Given the description of an element on the screen output the (x, y) to click on. 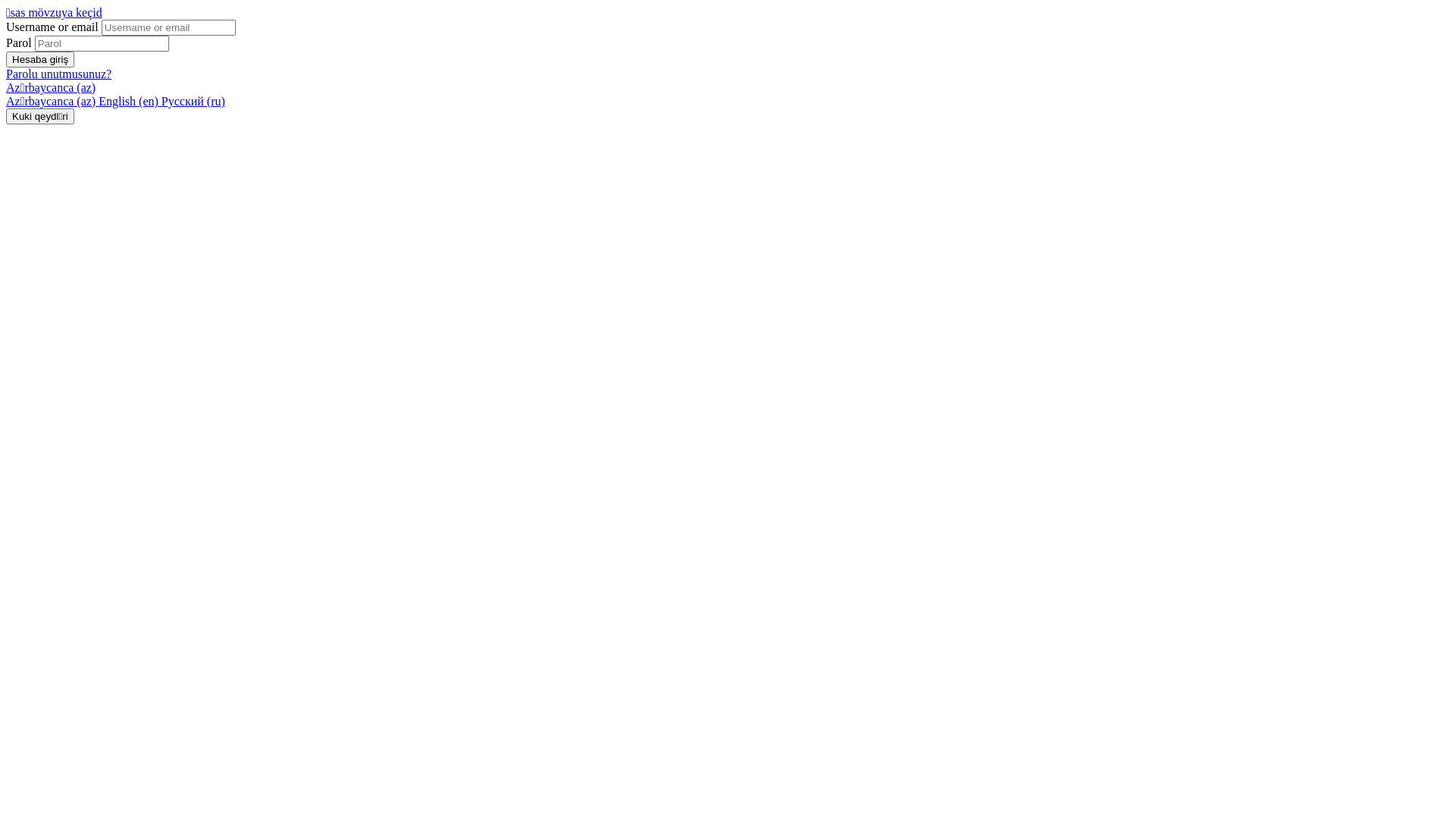
English (en) Element type: text (129, 100)
Parolu unutmusunuz? Element type: text (58, 73)
